Given the description of an element on the screen output the (x, y) to click on. 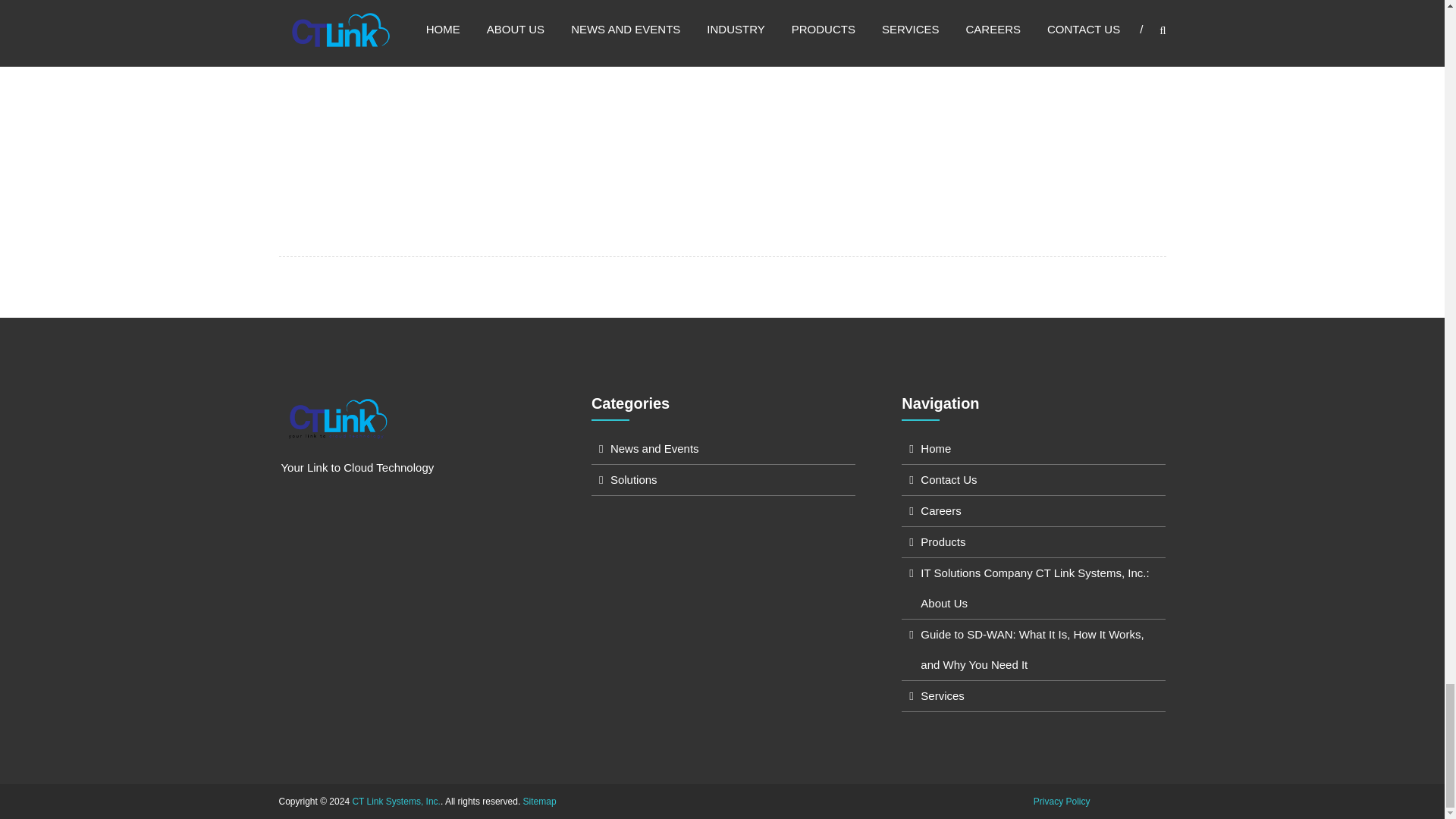
CT Link Systems, Inc. (395, 801)
